Given the description of an element on the screen output the (x, y) to click on. 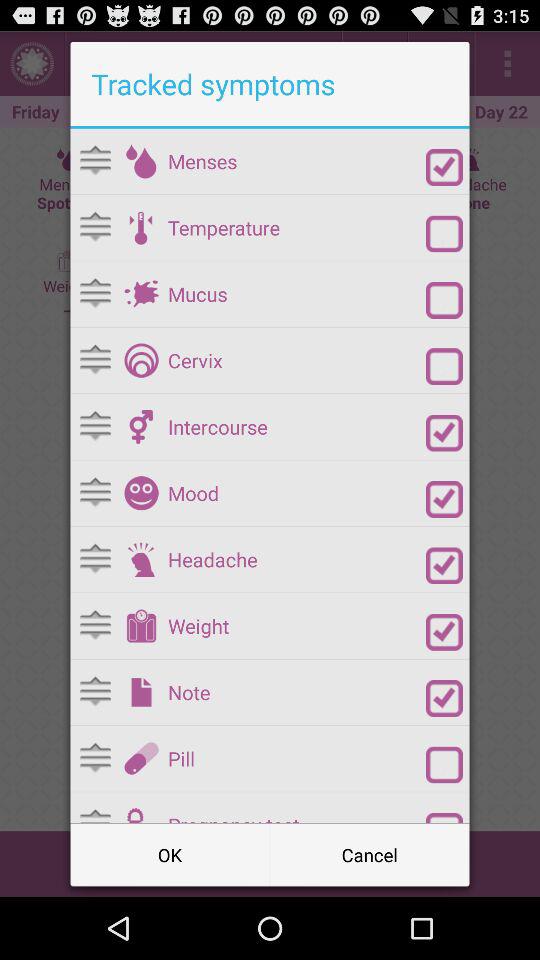
go to headache (444, 565)
